Given the description of an element on the screen output the (x, y) to click on. 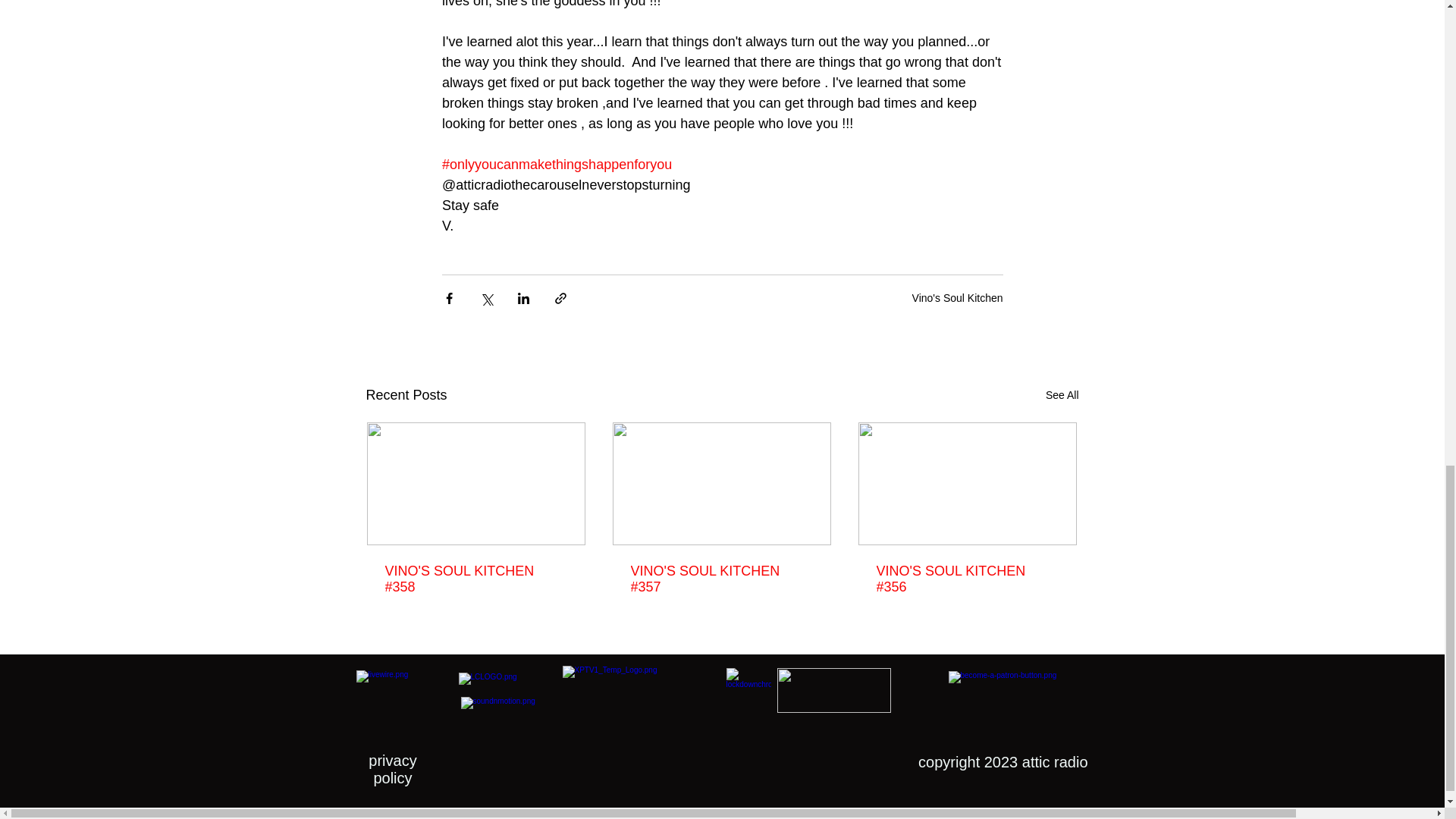
sublimelogo.jpg (832, 690)
